Given the description of an element on the screen output the (x, y) to click on. 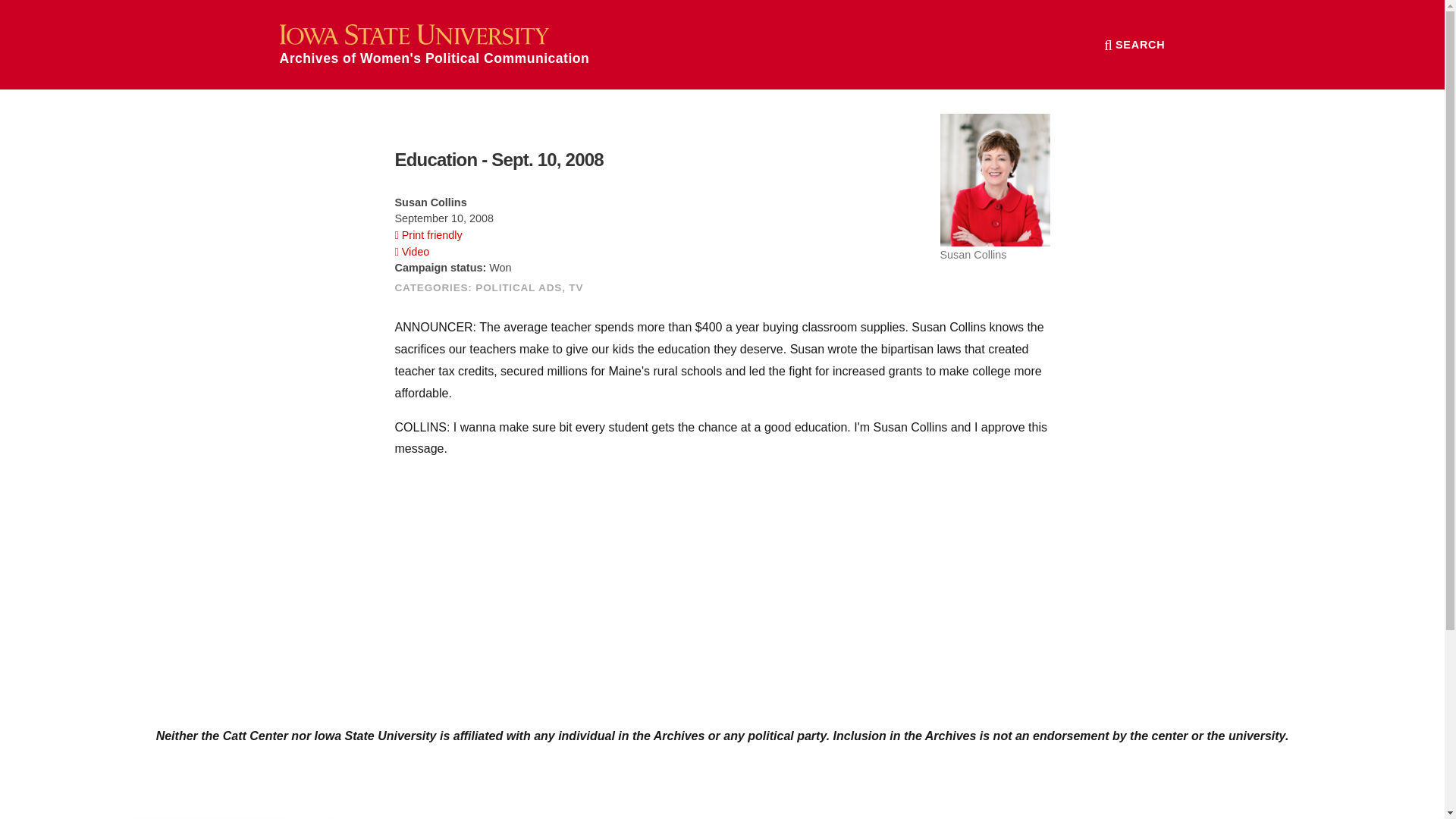
TV (576, 287)
Video (411, 251)
Print friendly (427, 234)
Archives of Women's Political Communication (433, 44)
Home (433, 44)
POLITICAL ADS (519, 287)
Search this website (1133, 44)
